Given the description of an element on the screen output the (x, y) to click on. 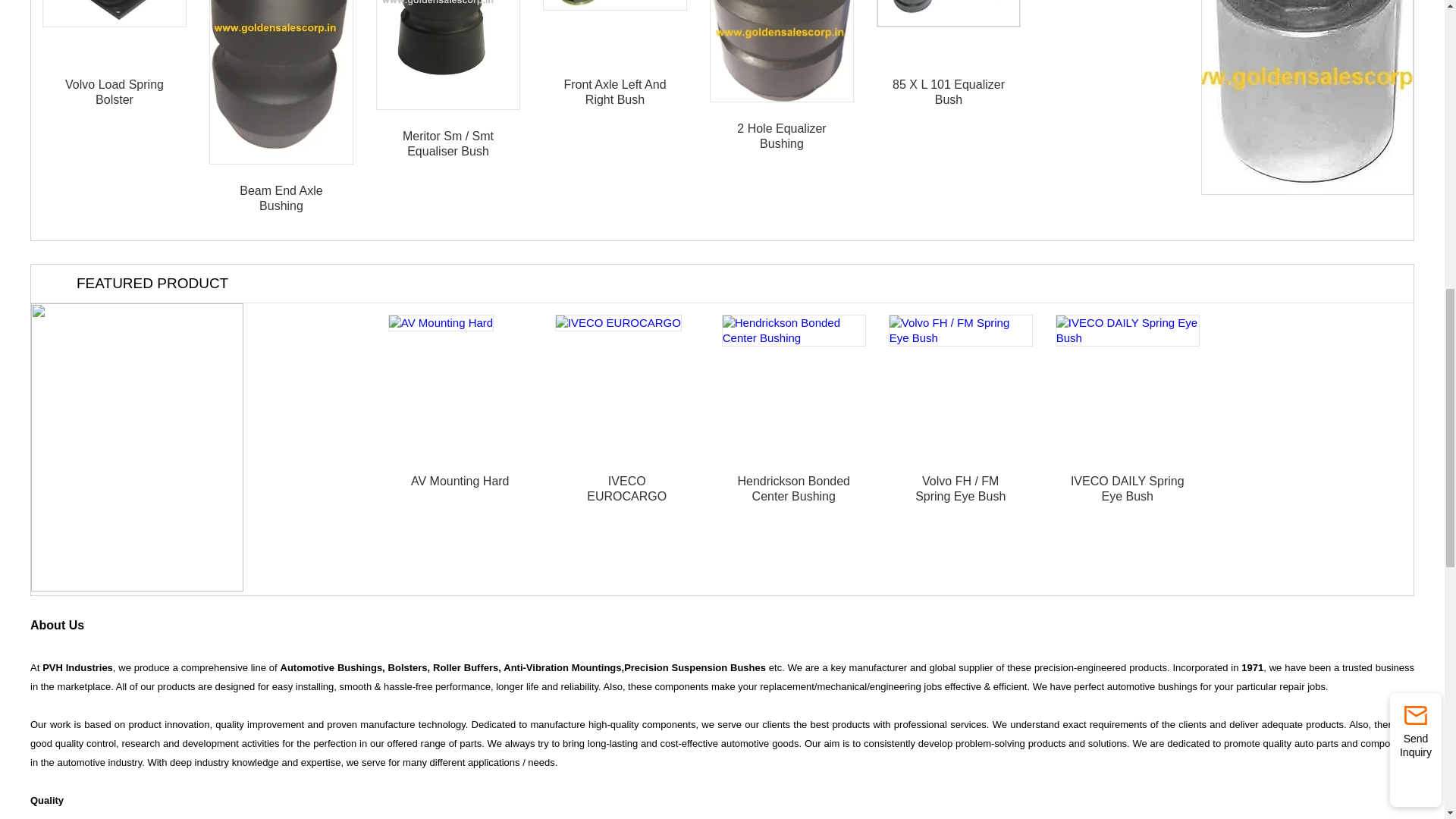
2 Hole Equalizer Bushing (781, 51)
AV Mounting  Hard (440, 322)
85 X L 101 Equalizer Bush (948, 13)
Front Axle Left And Right Bush (615, 5)
Volvo Load Spring Bolster (114, 13)
IVECO EUROCARGO (617, 322)
Hendrickson Bonded Center Bushing (794, 330)
IVECO DAILY Spring Eye Bush (1127, 330)
